Given the description of an element on the screen output the (x, y) to click on. 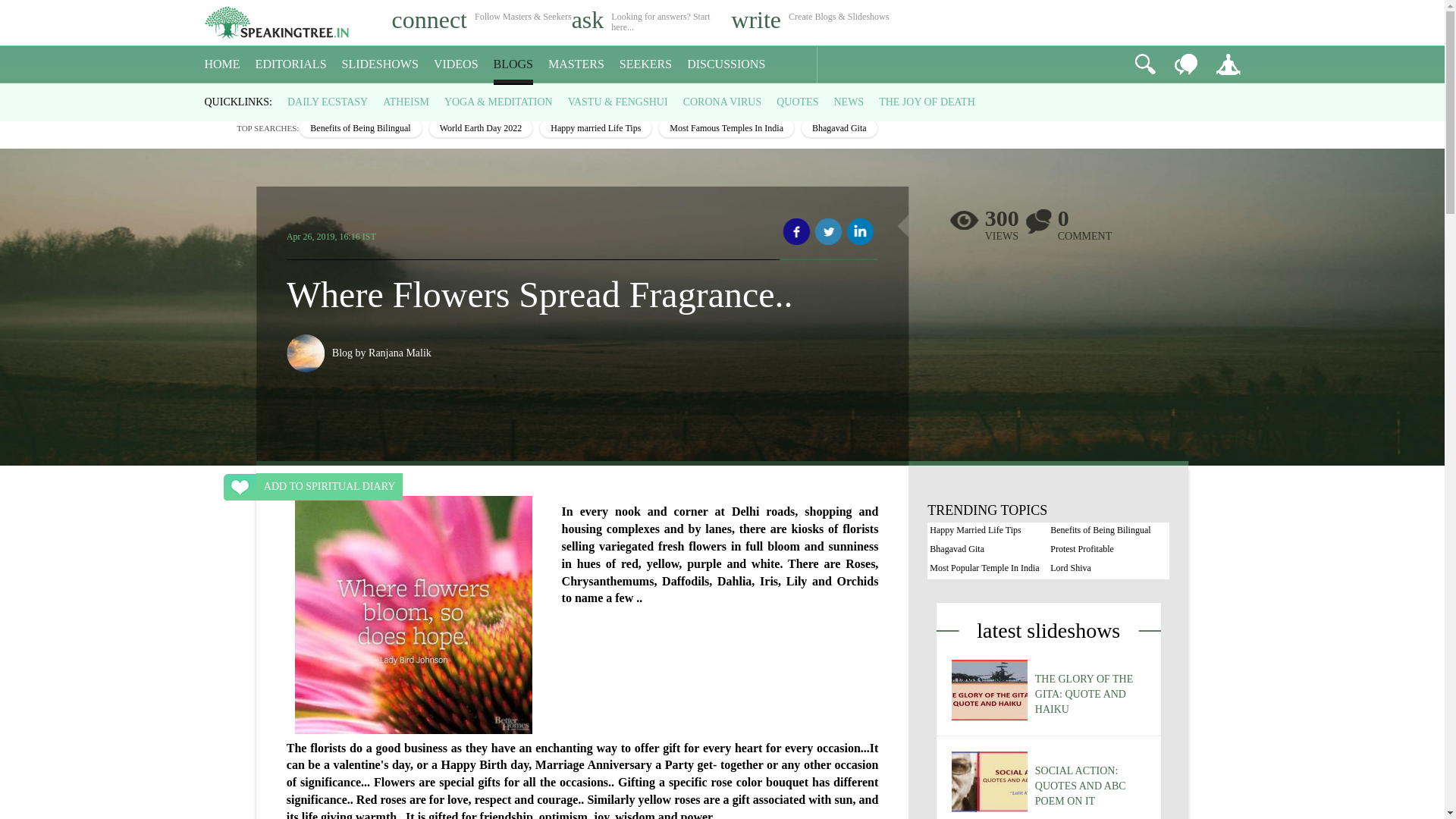
SEEKERS (645, 64)
VIDEOS (456, 64)
DISCUSSIONS (726, 64)
MASTERS (576, 64)
SLIDESHOWS (380, 64)
HOME (222, 64)
CORONA VIRUS (721, 101)
Share on Twitter (828, 231)
DAILY ECSTASY (327, 101)
QUOTES (797, 101)
ATHEISM (405, 101)
THE JOY OF DEATH (927, 101)
BLOGS (512, 64)
Share on Facebook (796, 231)
NEWS (847, 101)
